Given the description of an element on the screen output the (x, y) to click on. 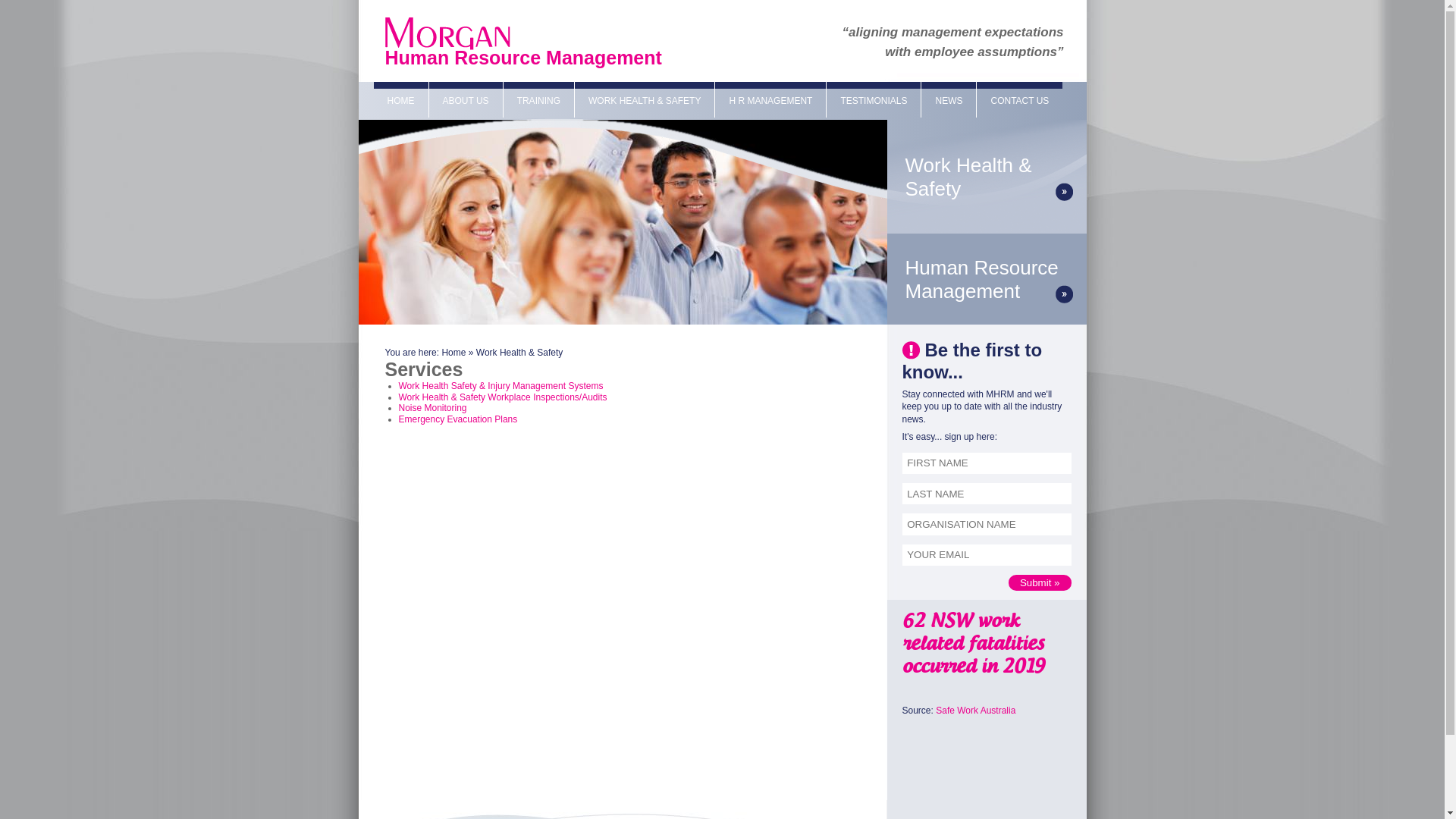
Home Element type: hover (447, 44)
Safe Work Australia Element type: text (975, 710)
H R MANAGEMENT Element type: text (770, 99)
TRAINING Element type: text (538, 99)
WORK HEALTH & SAFETY Element type: text (644, 99)
Human Resource Management Element type: text (523, 57)
HOME Element type: text (400, 99)
Work Health Safety & Injury Management Systems Element type: text (500, 385)
Home Element type: text (453, 352)
Work Health & Safety Element type: text (986, 176)
ABOUT US Element type: text (465, 99)
Skip to main content Element type: text (41, 0)
Human Resource Management Element type: text (986, 279)
Work Health & Safety Workplace Inspections/Audits Element type: text (502, 397)
NEWS Element type: text (948, 99)
Noise Monitoring Element type: text (432, 407)
TESTIMONIALS Element type: text (873, 99)
CONTACT US Element type: text (1019, 99)
Work Health & Safety Element type: text (519, 352)
Emergency Evacuation Plans Element type: text (457, 419)
